Given the description of an element on the screen output the (x, y) to click on. 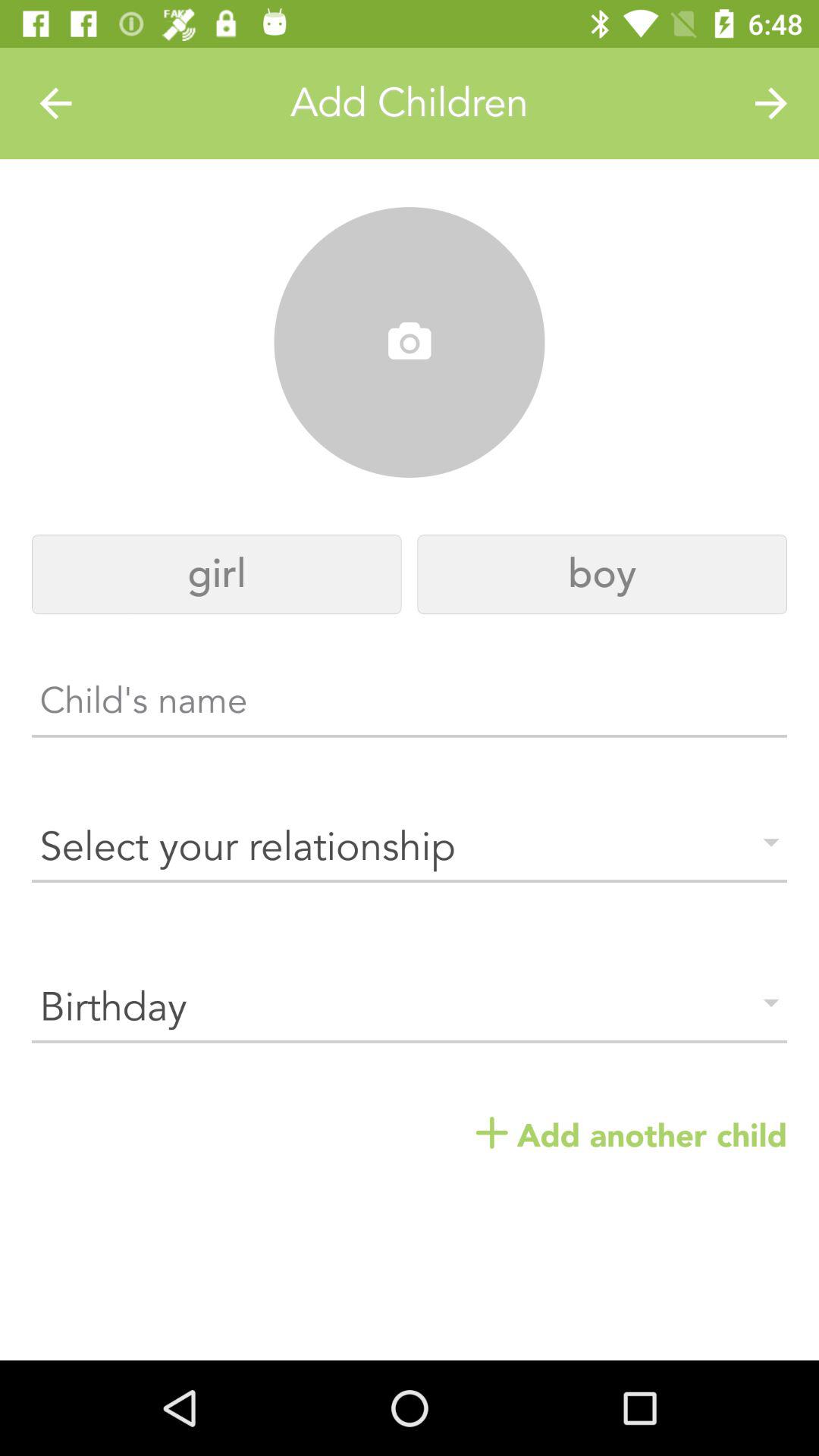
choose item below select your relationship item (409, 1007)
